Given the description of an element on the screen output the (x, y) to click on. 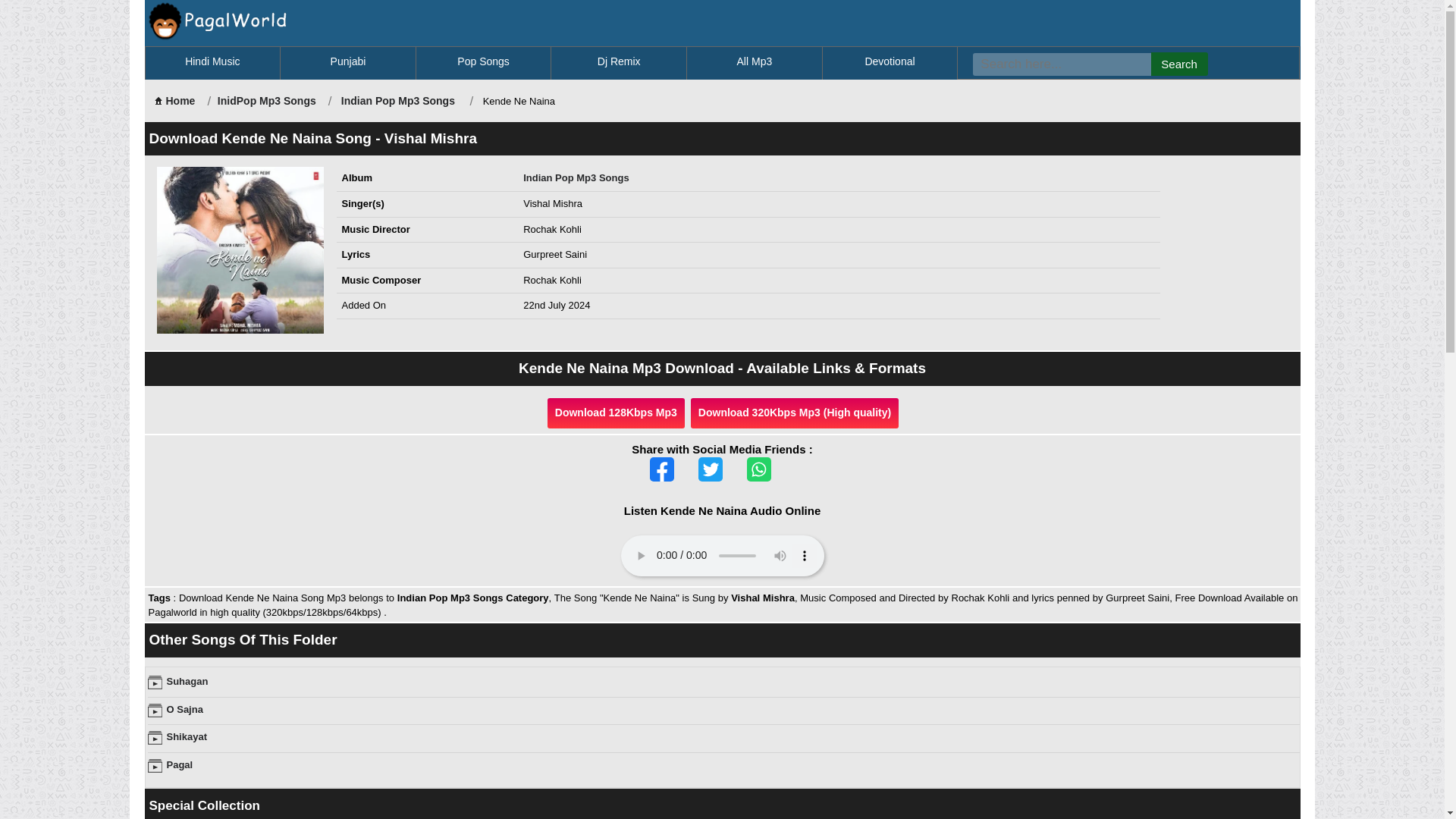
Download 128Kbps Mp3 (615, 413)
Kende Ne Naina (239, 250)
Indian Pop Mp3 Songs (575, 177)
O Sajna (185, 708)
Indian Pop Mp3 Songs (397, 101)
Search (1179, 64)
Shikayat (186, 736)
All Mp3 (753, 62)
Devotional (890, 62)
Suhagan (187, 681)
Home (174, 101)
Indian Pop Mp3 Songs (397, 101)
Pop Songs (482, 62)
Punjabi (346, 62)
Dj Remix (617, 62)
